Given the description of an element on the screen output the (x, y) to click on. 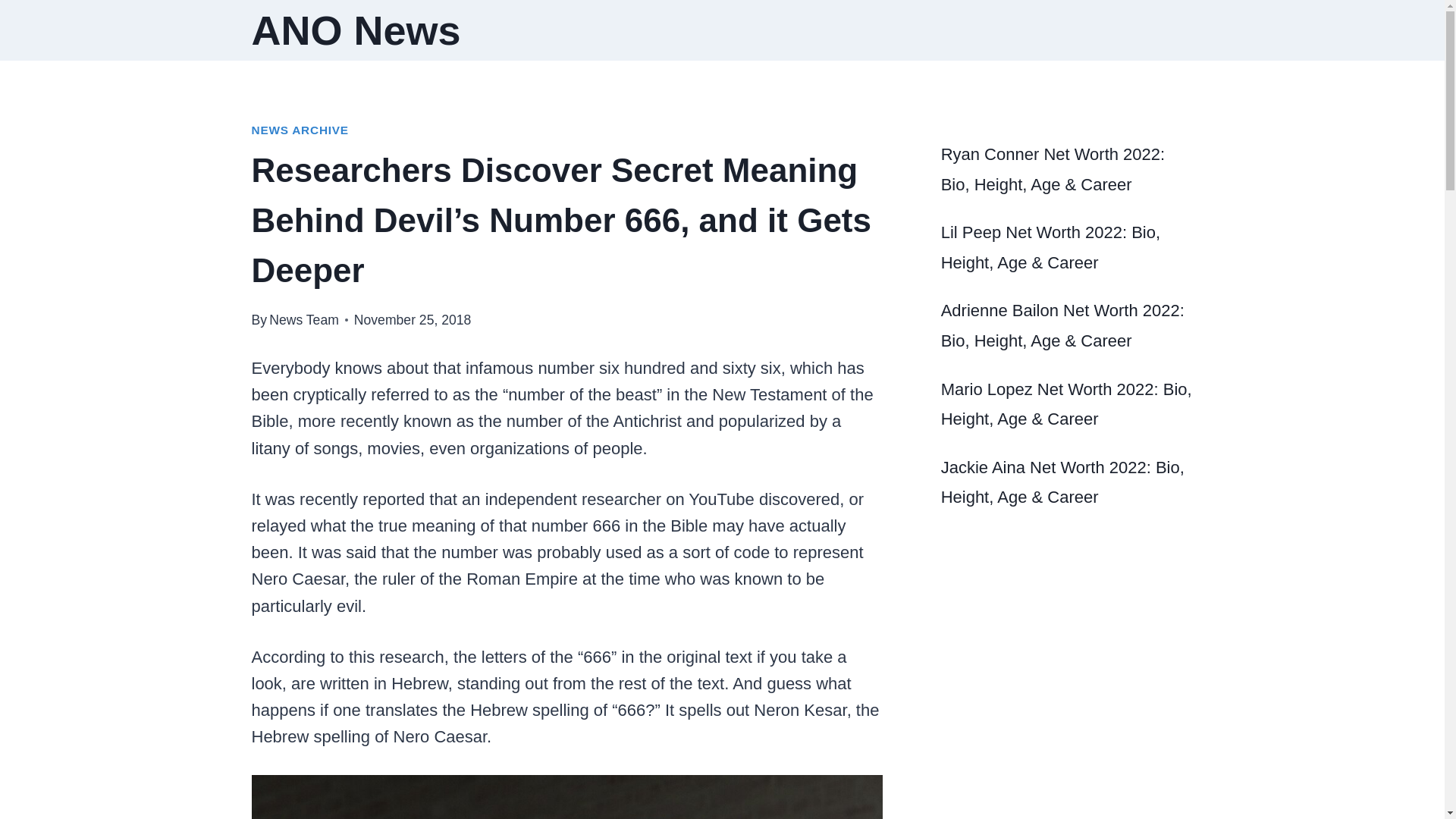
NEWS ARCHIVE (300, 129)
ANO News (356, 30)
News Team (304, 319)
